Given the description of an element on the screen output the (x, y) to click on. 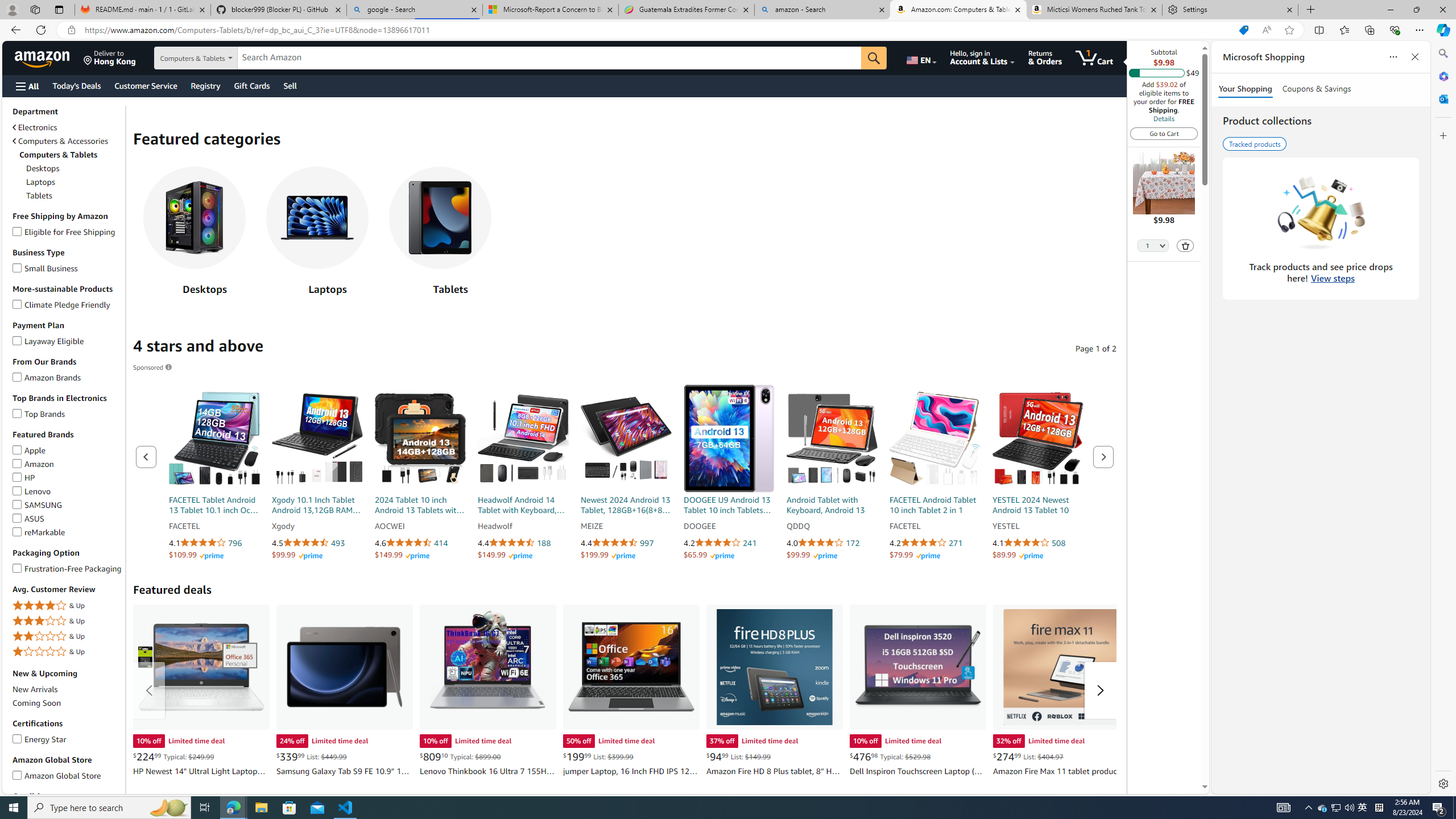
Amazon Amazon (33, 463)
Amazon Prime (1030, 556)
Today's Deals (76, 85)
2 Stars & Up (67, 635)
Computers & Accessories (67, 140)
4.0 out of 5 stars 172 ratings (831, 543)
Open Menu (26, 86)
4.1 out of 5 stars 508 ratings (1037, 543)
HP Laptop, 192GB Storage(64GB eMMC+128GB Micro SD) (200, 666)
Amazon Brands (17, 375)
